Given the description of an element on the screen output the (x, y) to click on. 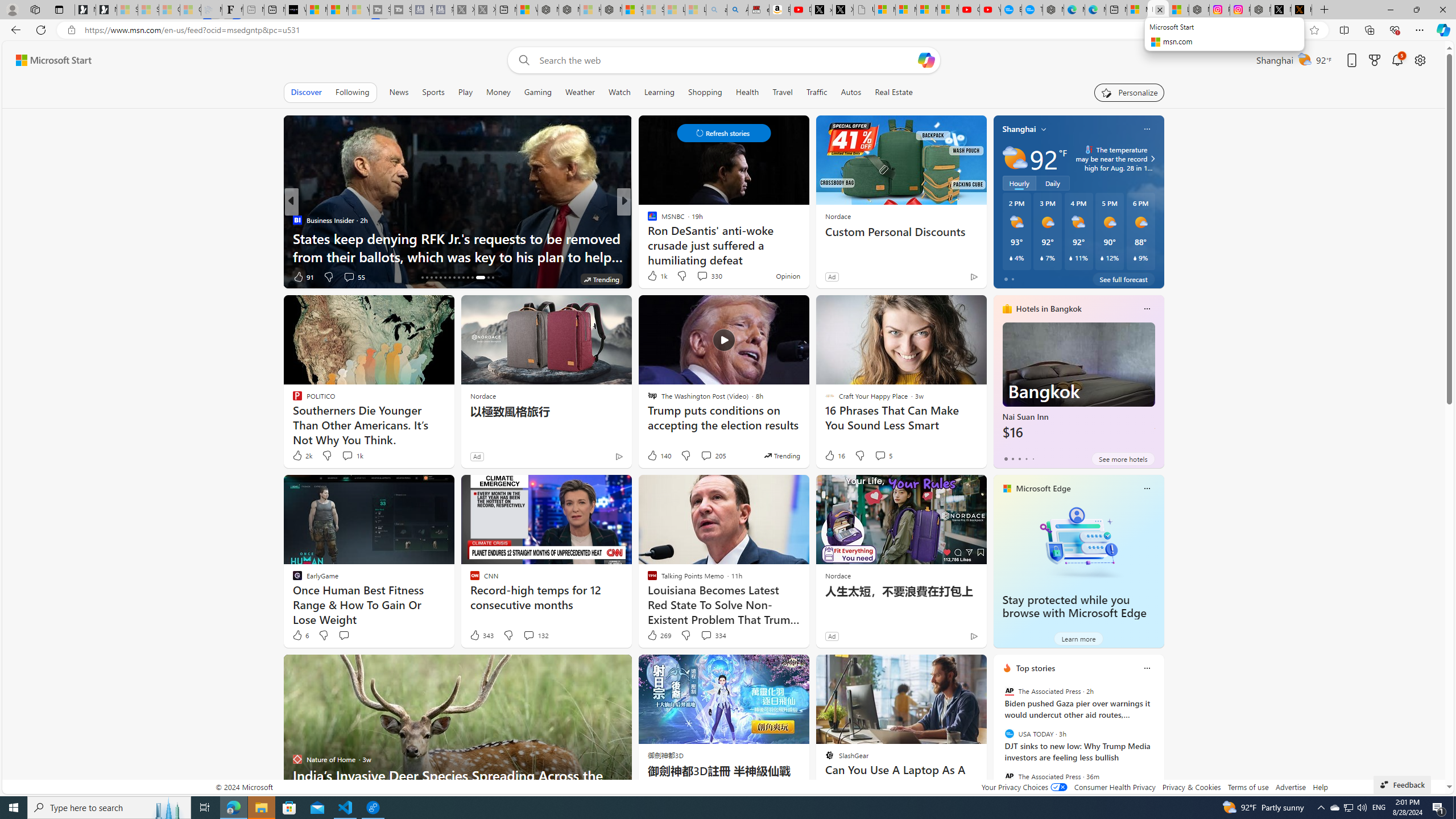
previous (998, 741)
View comments 353 Comment (6, 276)
View comments 132 Comment (535, 634)
Skip to footer (46, 59)
Daily (1052, 183)
View comments 96 Comment (703, 276)
See more hotels (1123, 459)
AutomationID: tab-22 (449, 277)
View comments 39 Comment (6, 276)
Comments turned off for this story (695, 276)
